Given the description of an element on the screen output the (x, y) to click on. 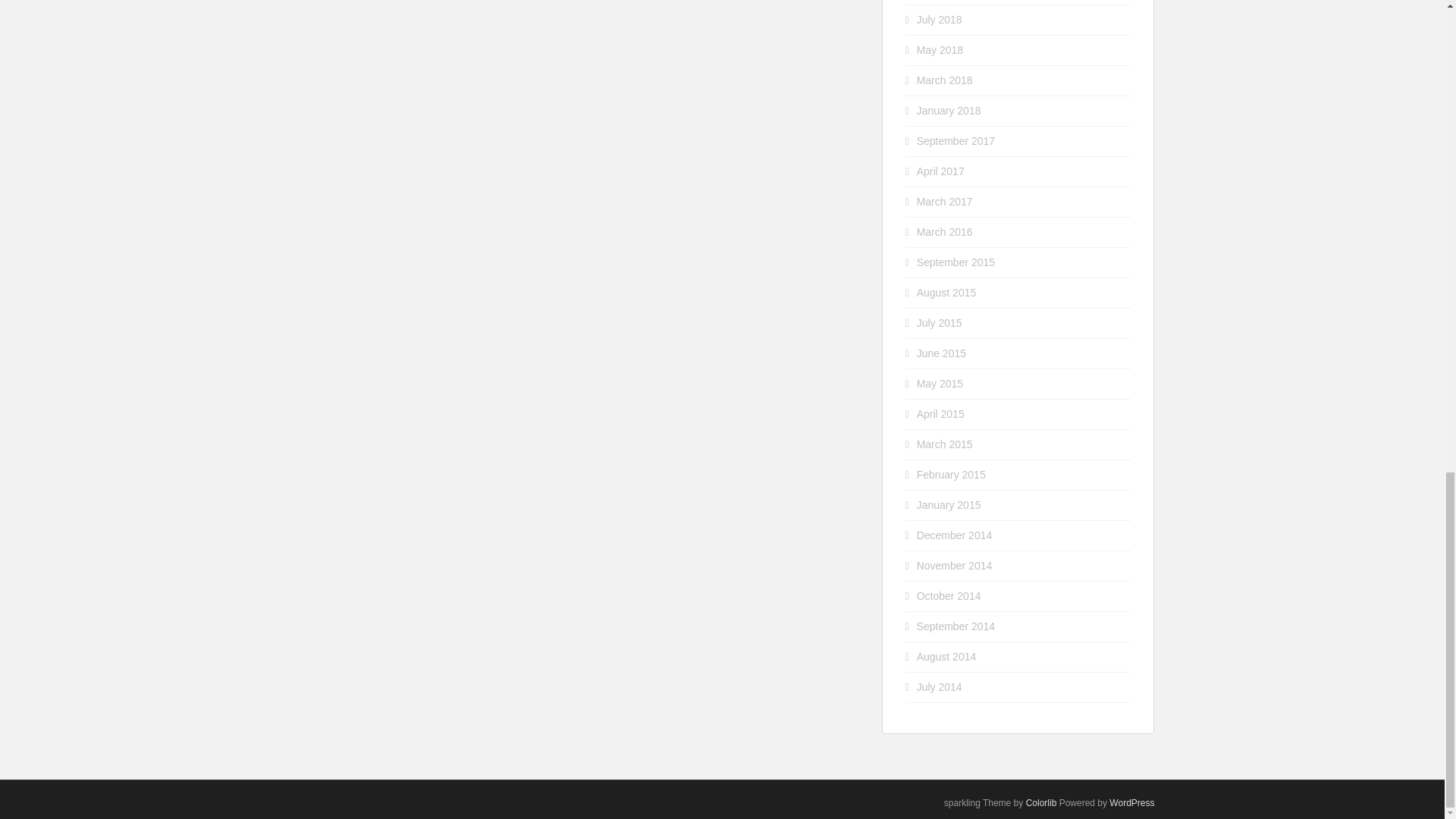
September 2015 (956, 262)
August 2015 (946, 292)
April 2017 (940, 171)
January 2018 (949, 110)
September 2017 (956, 141)
March 2018 (944, 80)
March 2016 (944, 232)
July 2018 (939, 19)
May 2018 (939, 50)
March 2017 (944, 201)
